Given the description of an element on the screen output the (x, y) to click on. 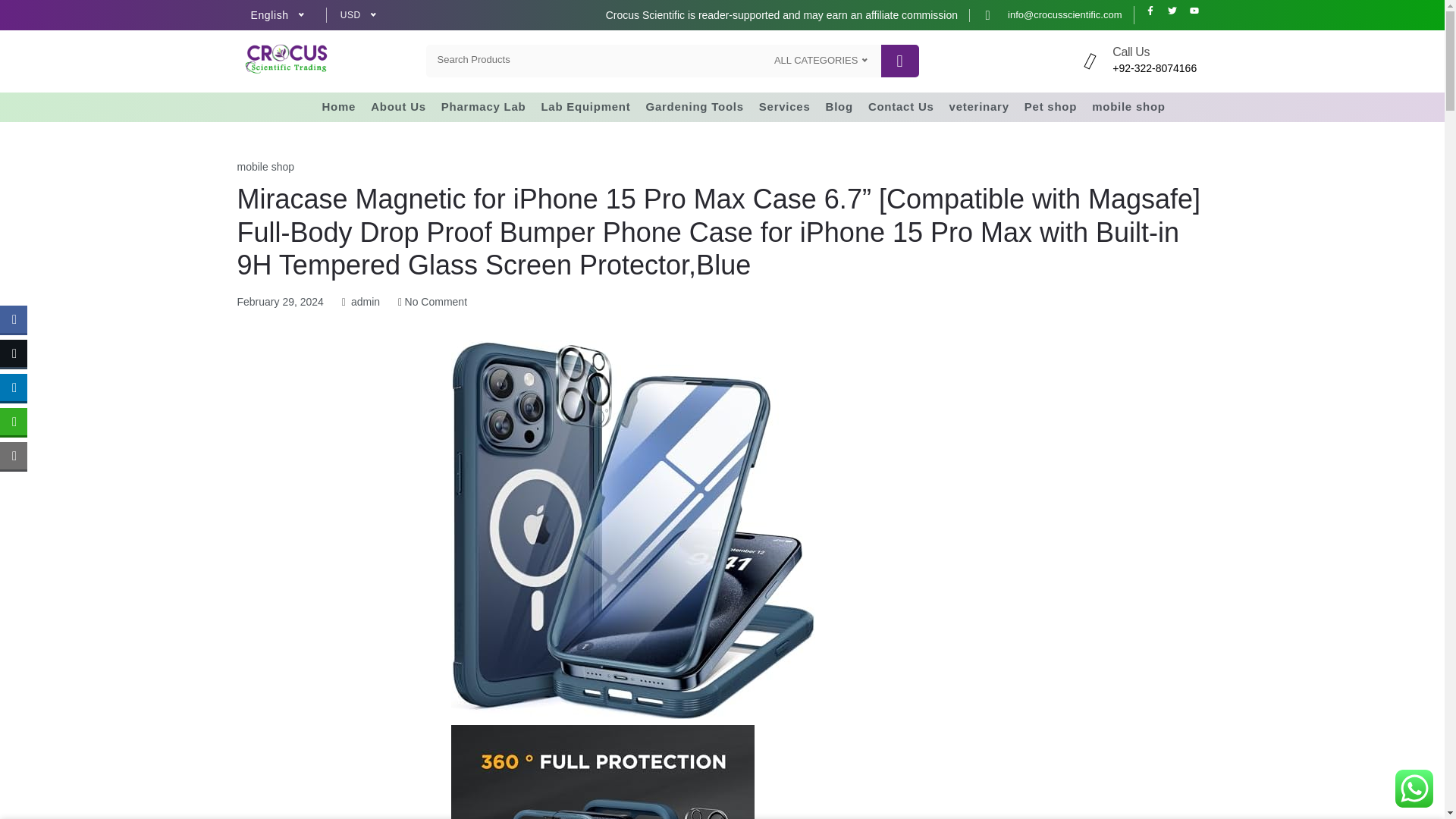
Call Us (1131, 51)
Posts by admin (365, 301)
